Given the description of an element on the screen output the (x, y) to click on. 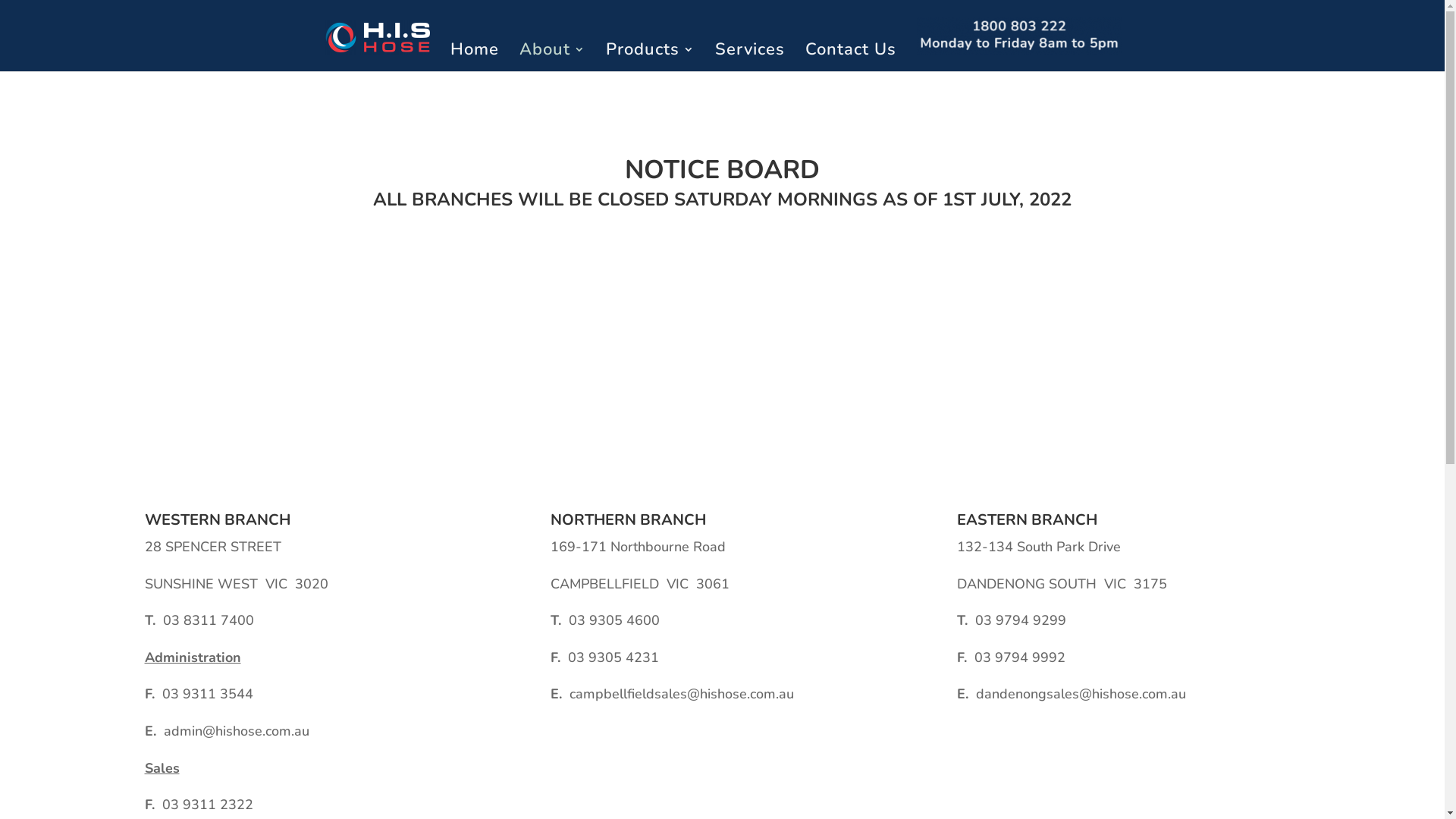
About Element type: text (551, 57)
Products Element type: text (649, 57)
Contact Us Element type: text (850, 57)
Home Element type: text (474, 57)
Services Element type: text (749, 57)
